Given the description of an element on the screen output the (x, y) to click on. 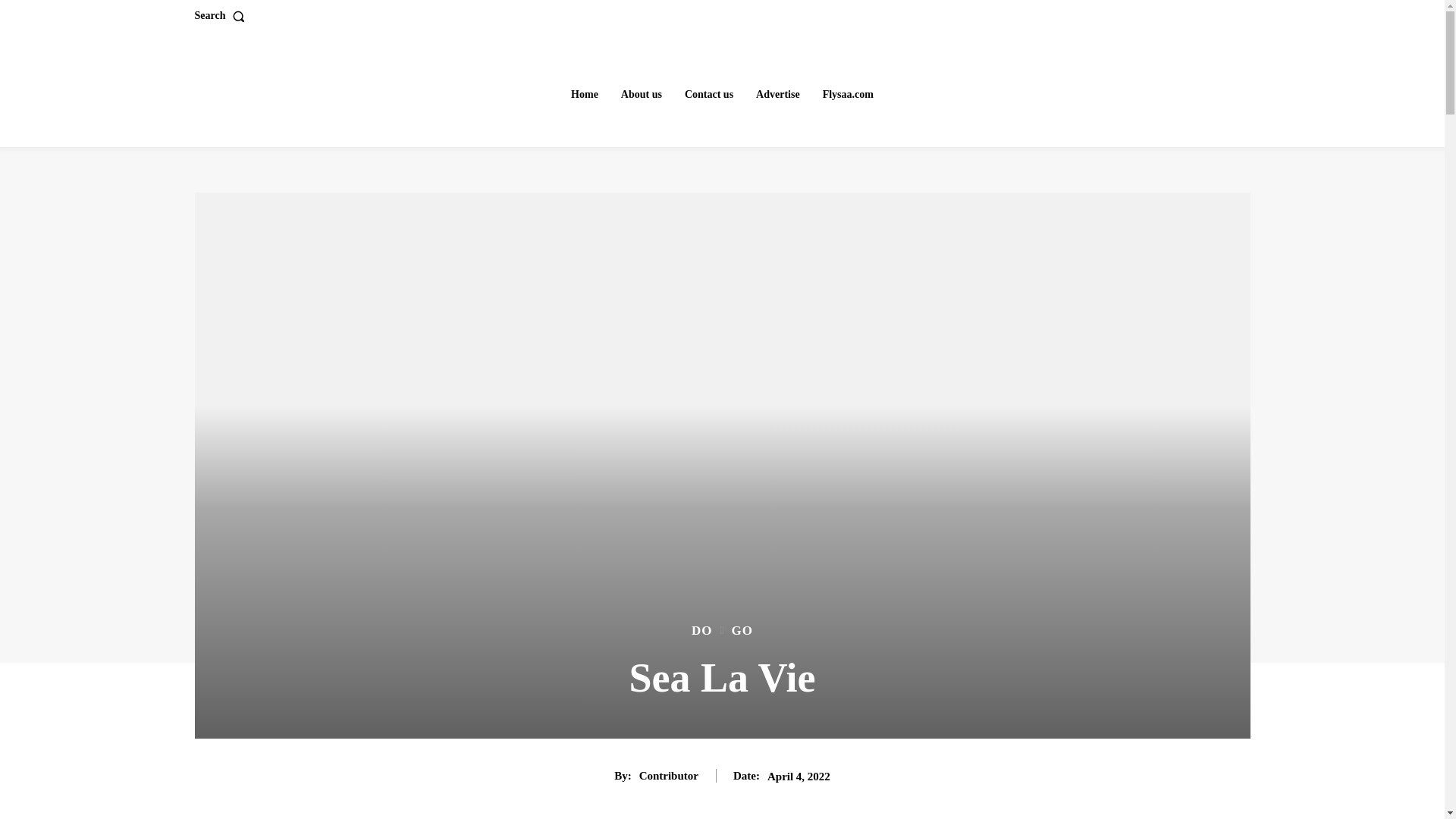
Contact us (709, 94)
About us (640, 94)
Flysaa.com (847, 94)
GO (742, 630)
Advertise (778, 94)
Contributor (668, 775)
Home (584, 94)
DO (702, 630)
Search (221, 15)
